Given the description of an element on the screen output the (x, y) to click on. 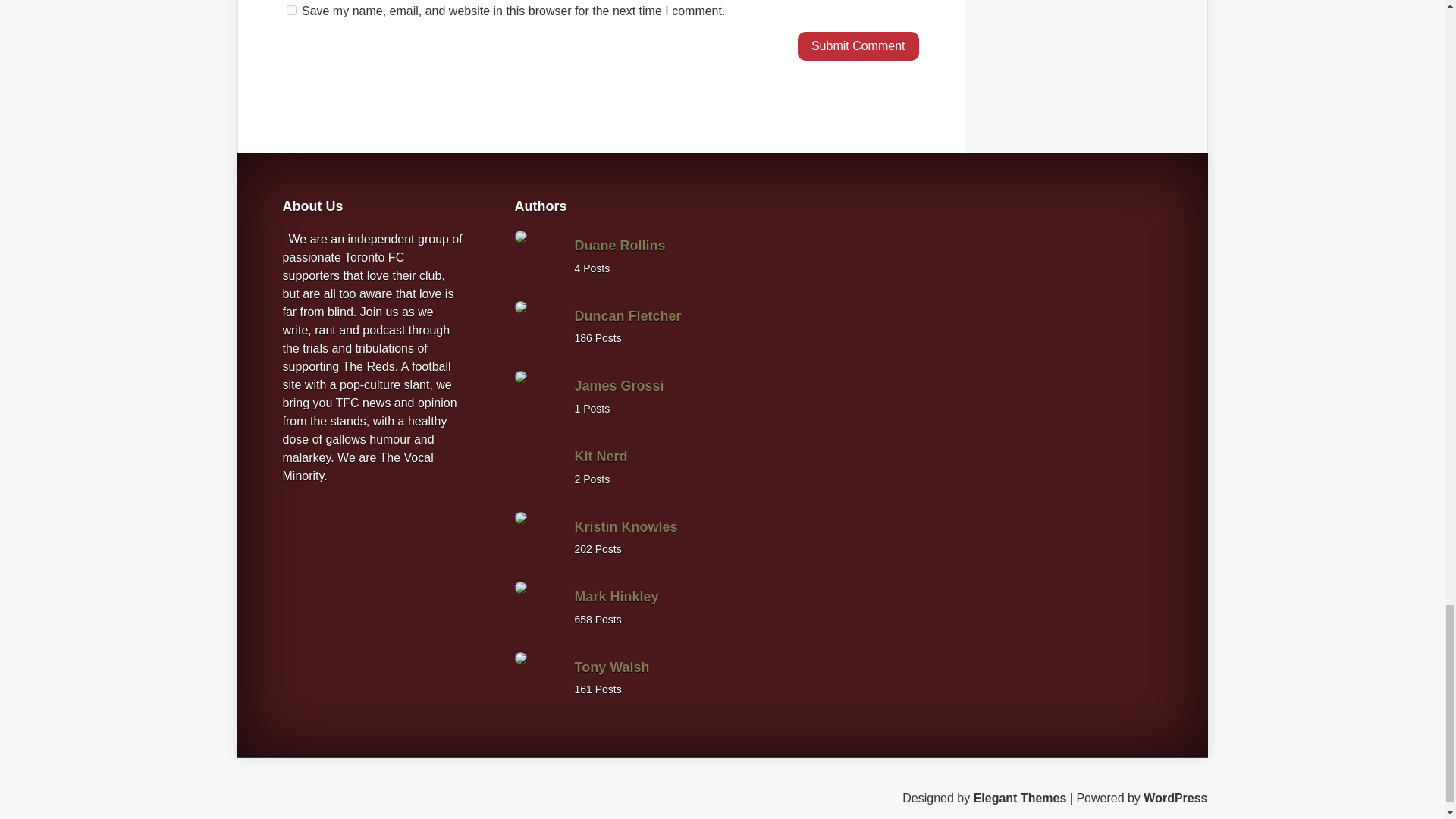
Submit Comment (857, 45)
Premium WordPress Themes (1020, 797)
Submit Comment (857, 45)
yes (291, 9)
